Given the description of an element on the screen output the (x, y) to click on. 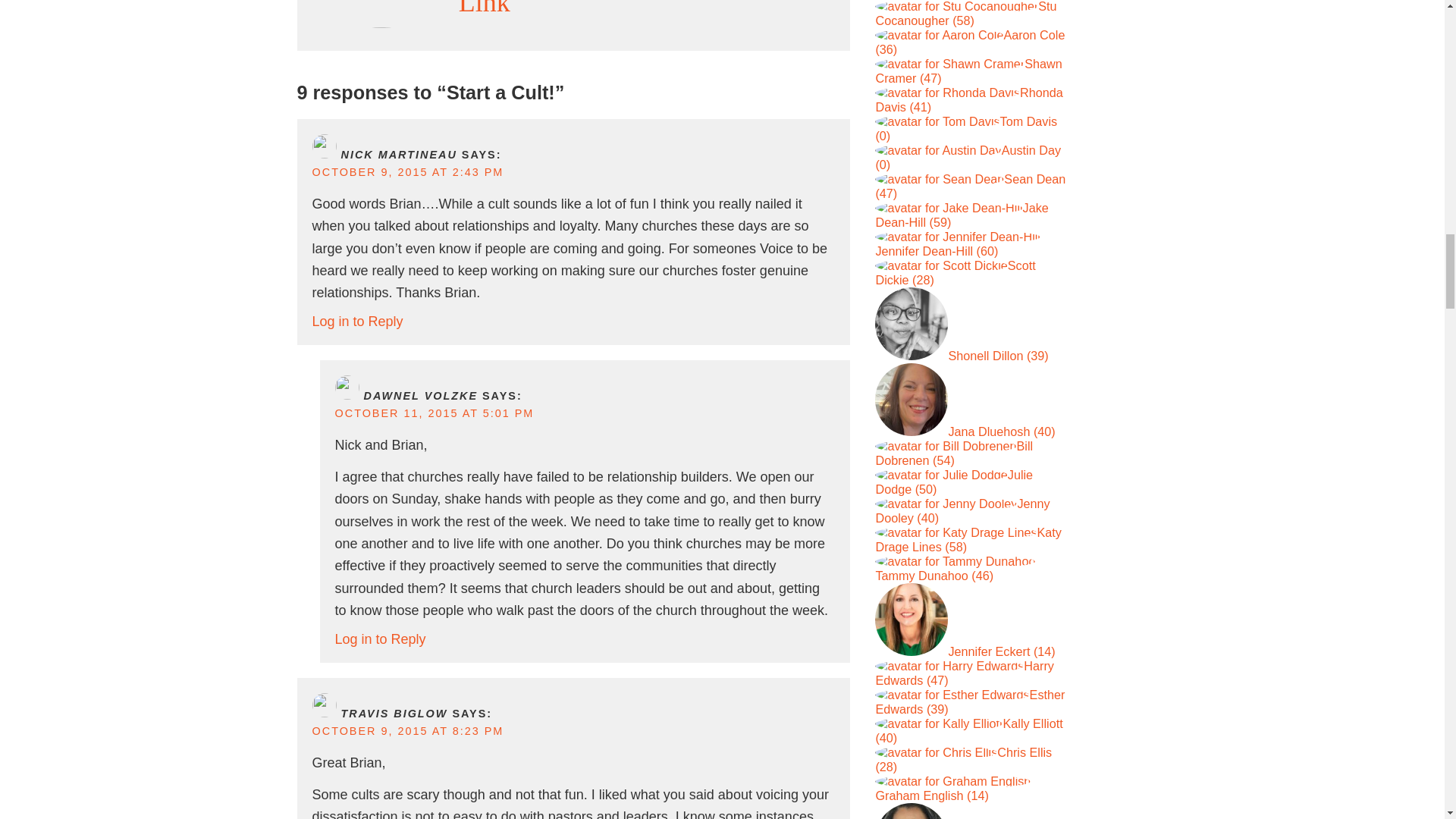
OCTOBER 9, 2015 AT 8:23 PM (408, 730)
OCTOBER 11, 2015 AT 5:01 PM (434, 413)
Link (484, 8)
OCTOBER 9, 2015 AT 2:43 PM (408, 172)
Log in to Reply (358, 321)
Log in to Reply (380, 639)
